Given the description of an element on the screen output the (x, y) to click on. 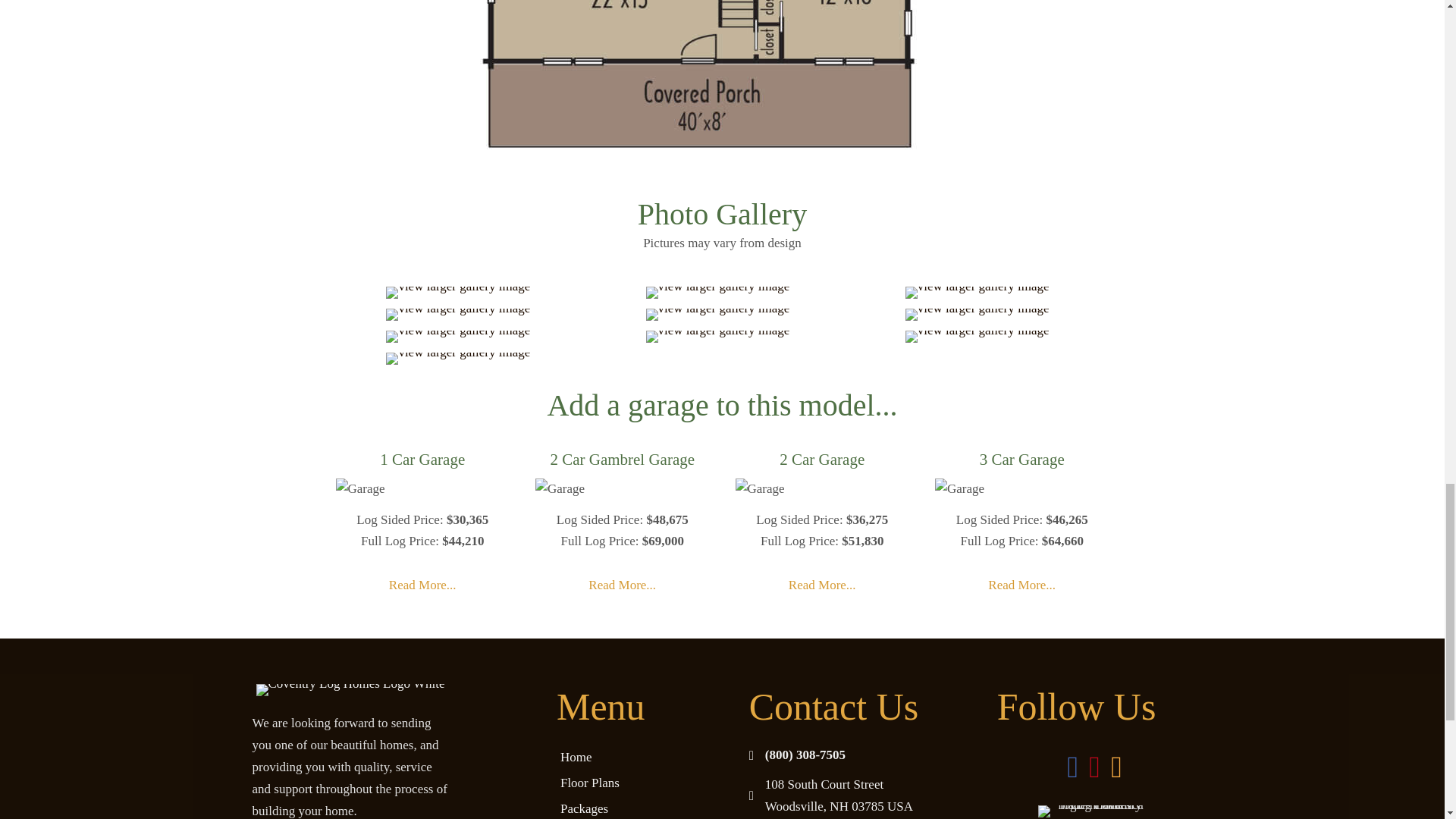
garage4 (959, 489)
garage1 (359, 489)
Coventry Log Homes Logo (350, 689)
garage3 (759, 489)
garage2 (560, 489)
made in america logo (1094, 811)
